Given the description of an element on the screen output the (x, y) to click on. 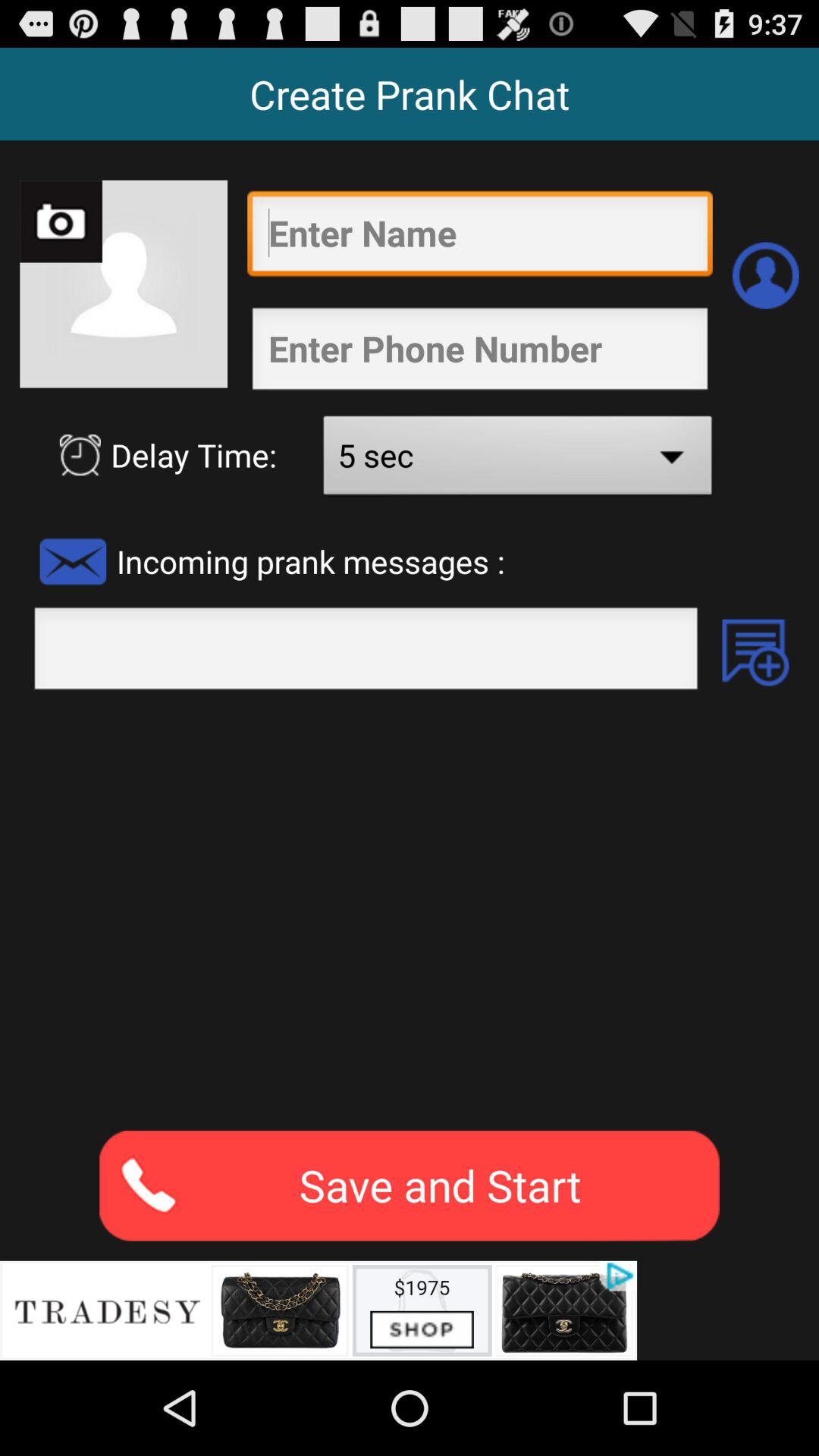
this enter name (479, 237)
